Given the description of an element on the screen output the (x, y) to click on. 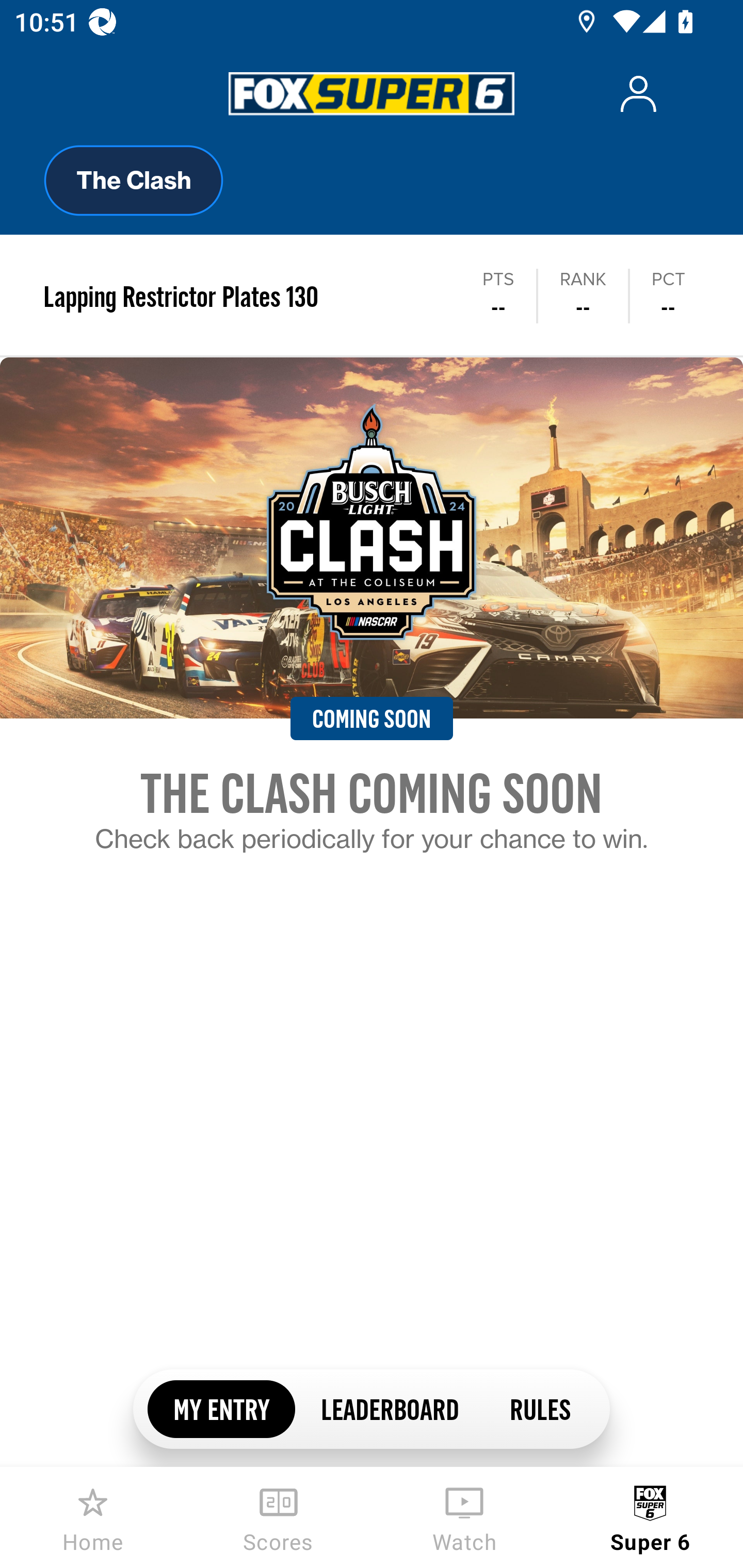
LEADERBOARD (388, 1408)
RULES (539, 1408)
Home (92, 1517)
Scores (278, 1517)
Watch (464, 1517)
